Given the description of an element on the screen output the (x, y) to click on. 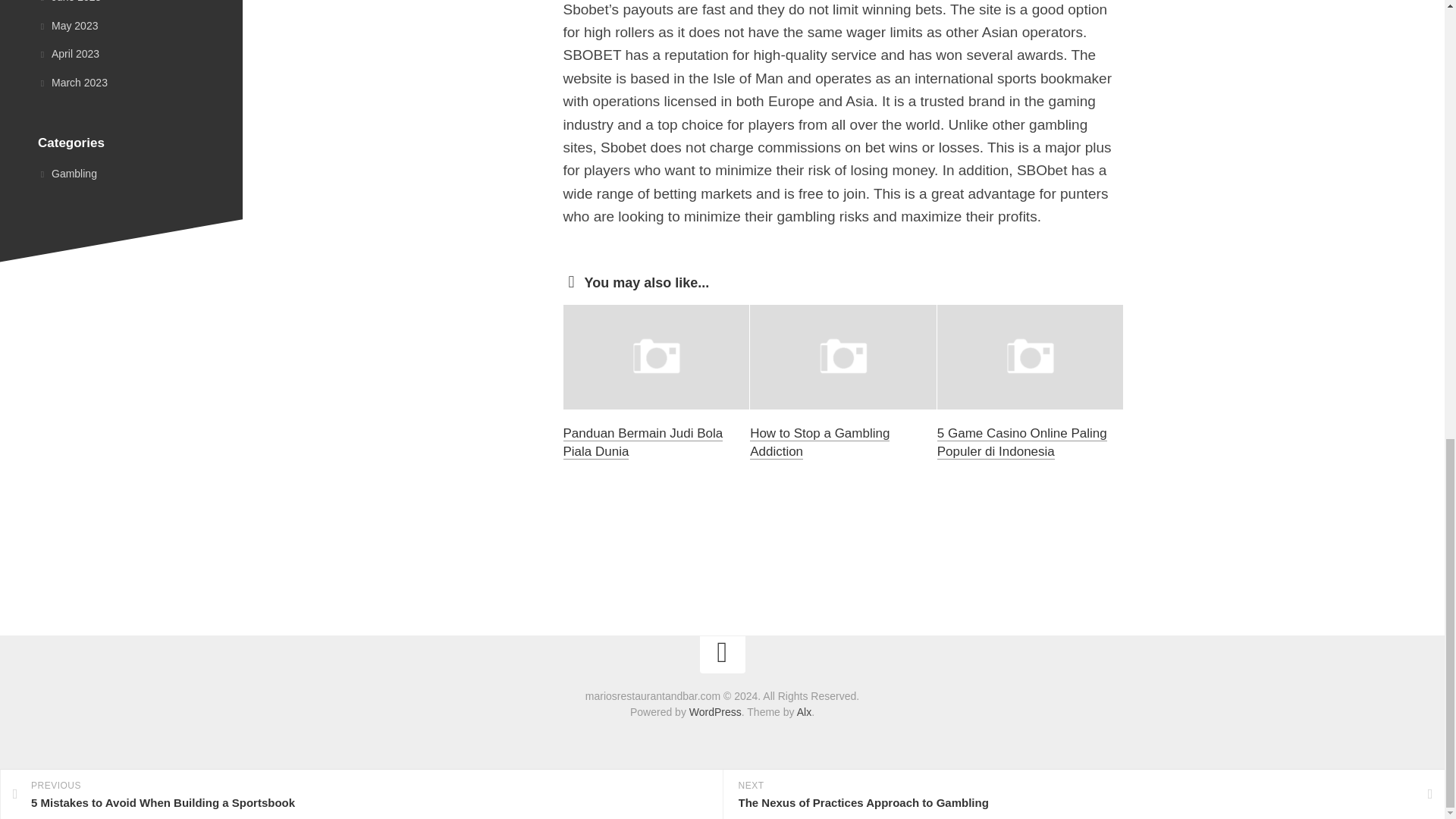
May 2023 (67, 24)
April 2023 (68, 53)
WordPress (714, 711)
March 2023 (72, 82)
June 2023 (68, 1)
Alx (803, 711)
Gambling (67, 173)
Panduan Bermain Judi Bola Piala Dunia (642, 441)
5 Game Casino Online Paling Populer di Indonesia (1021, 441)
How to Stop a Gambling Addiction (819, 441)
